Given the description of an element on the screen output the (x, y) to click on. 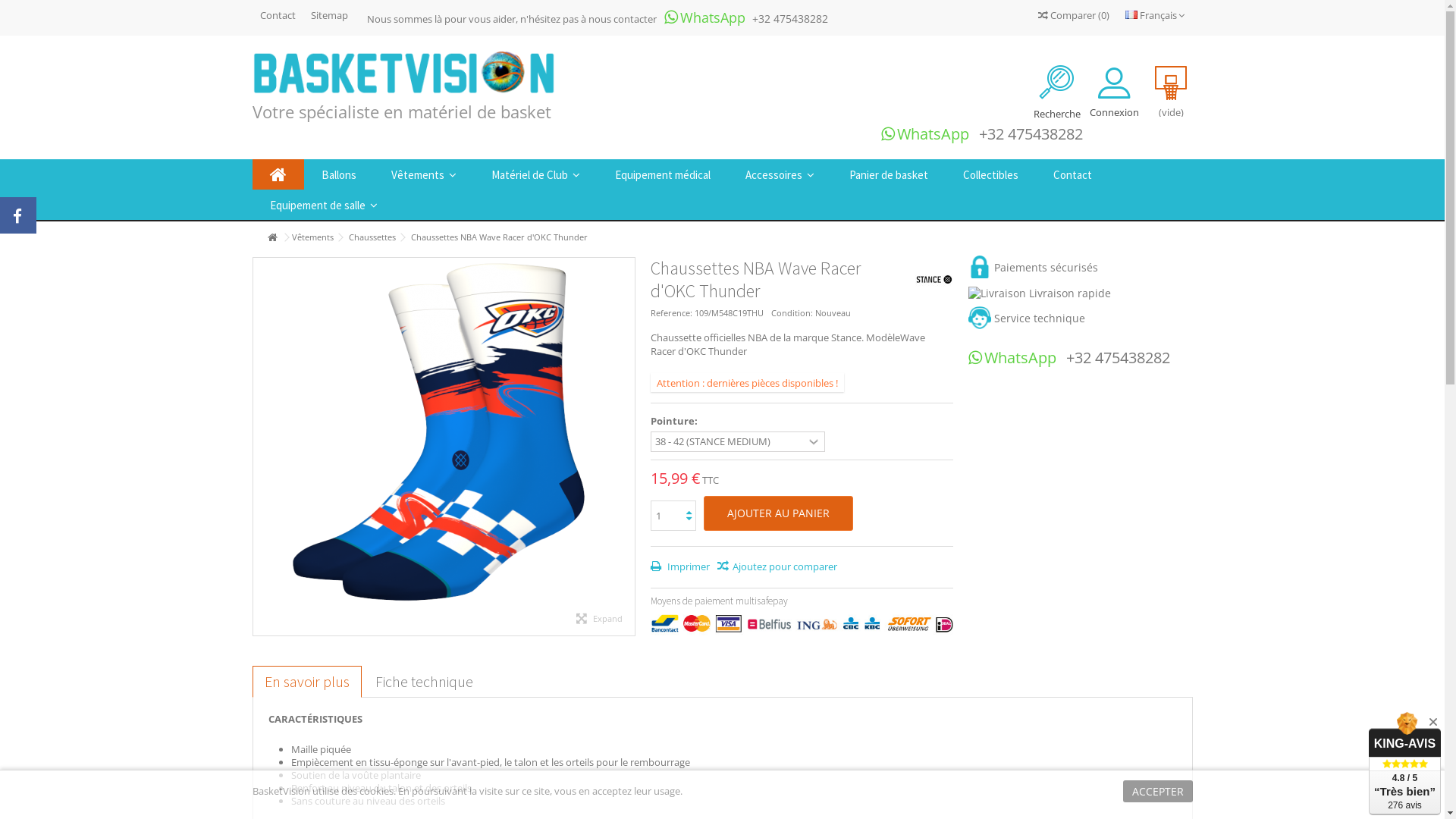
Chaussettes Element type: text (371, 237)
Fiche technique Element type: text (423, 681)
En savoir plus Element type: text (305, 681)
Comparer (0) Element type: text (1072, 15)
WhatsApp +32 475438282 Element type: text (981, 134)
Contact Element type: text (276, 14)
Accessoires Element type: text (779, 174)
Chaussettes NBA Wave Racer d'OKC Thunder Element type: hover (443, 431)
Collectibles Element type: text (989, 174)
Imprimer Element type: text (679, 566)
PANIER
(vide) Element type: text (1171, 90)
AJOUTER AU PANIER Element type: text (778, 512)
WhatsApp +32 475438282 Element type: text (1069, 358)
Sitemap Element type: text (329, 14)
WhatsApp +32 475438282 Element type: text (746, 17)
ACCEPTER Element type: text (1157, 791)
Equipement de salle Element type: text (322, 204)
Connexion Element type: text (1114, 90)
Logovision sprl Element type: hover (403, 74)
Ajoutez pour comparer Element type: text (777, 566)
Ballons Element type: text (338, 174)
Panier de basket Element type: text (887, 174)
Contact Element type: text (1072, 174)
